Given the description of an element on the screen output the (x, y) to click on. 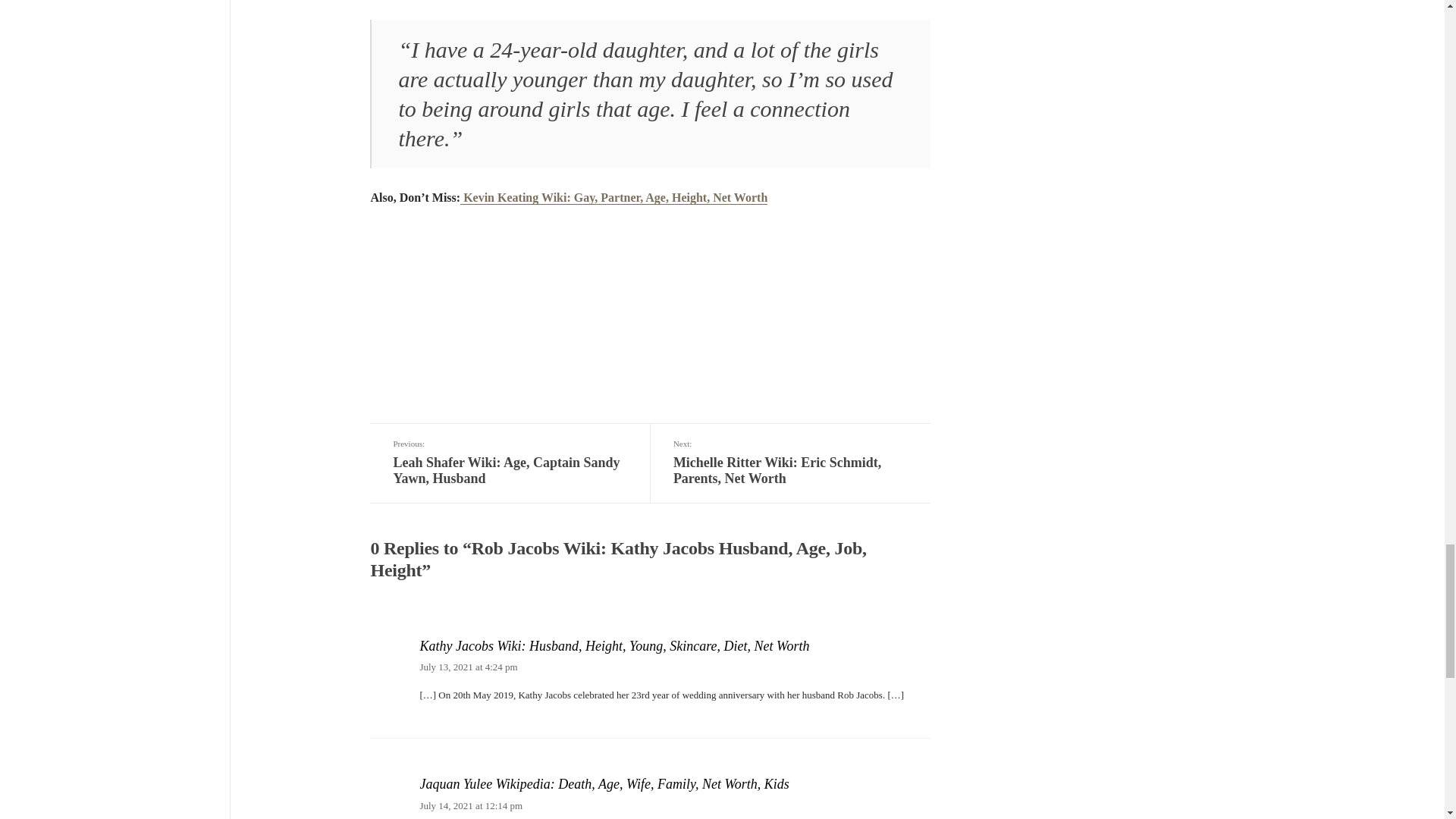
July 14, 2021 at 12:14 pm (470, 805)
July 13, 2021 at 4:24 pm (790, 463)
Kevin Keating Wiki: Gay, Partner, Age, Height, Net Worth (467, 666)
